Given the description of an element on the screen output the (x, y) to click on. 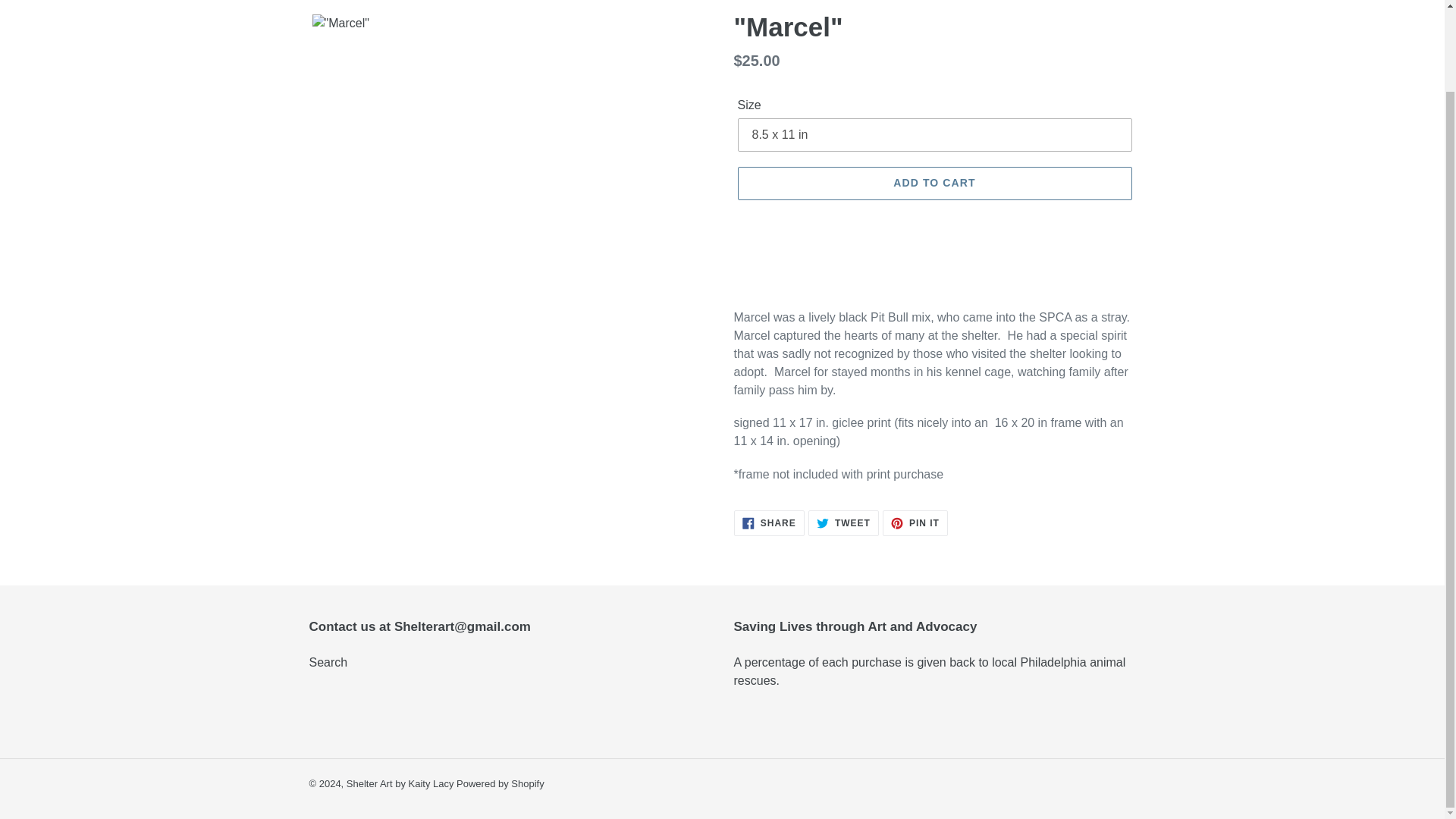
Powered by Shopify (843, 523)
Search (500, 783)
ADD TO CART (327, 662)
Shelter Art by Kaity Lacy (933, 183)
